Given the description of an element on the screen output the (x, y) to click on. 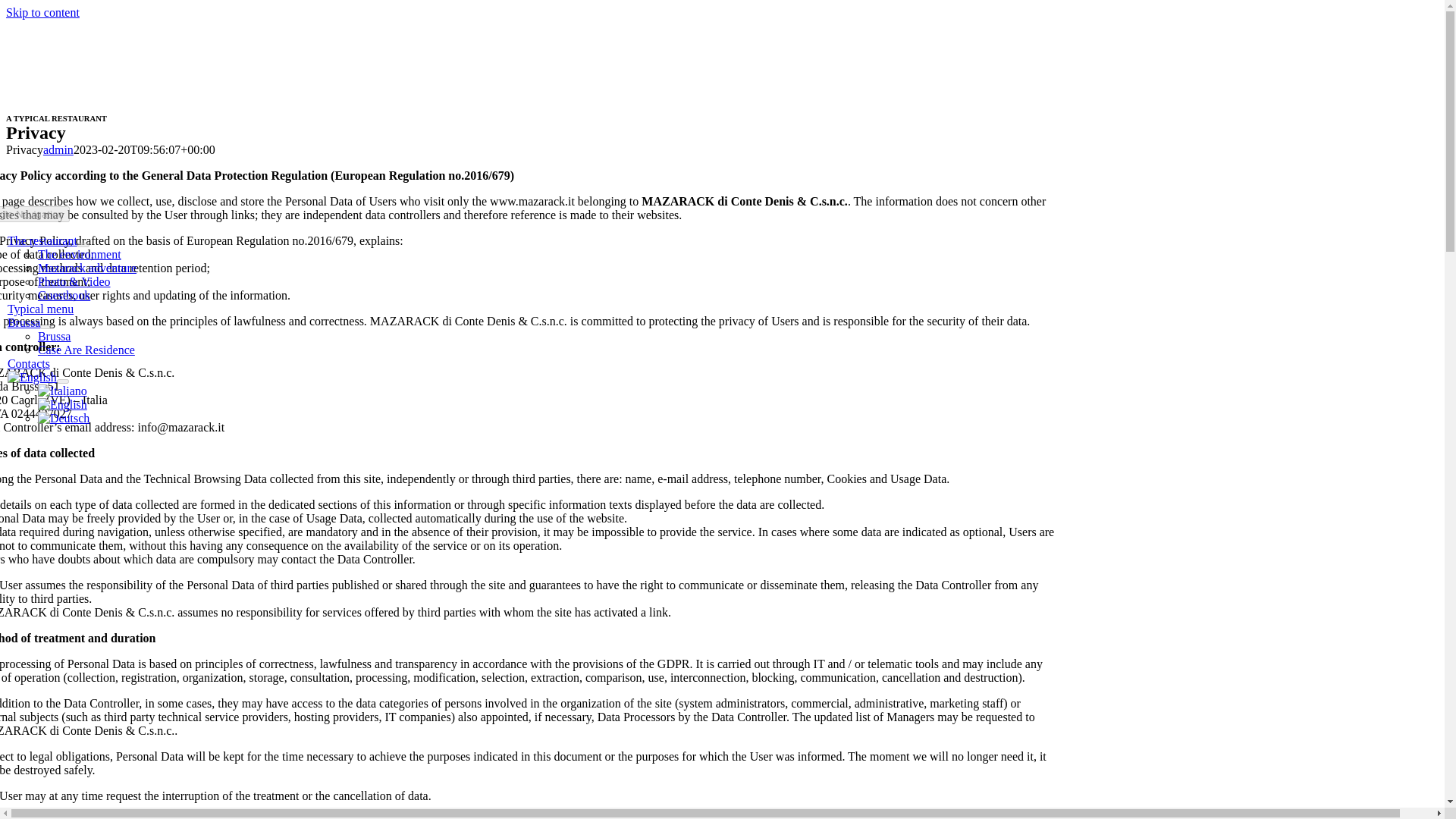
Typical menu (40, 308)
Contacts (28, 363)
Brussa (23, 322)
Toggle Navigation (34, 213)
Mazarack adventure (86, 267)
The environment (78, 254)
Posts by admin (58, 149)
admin (58, 149)
Skip to content (42, 11)
Brussa (54, 336)
Case Are Residence (86, 349)
The restaurant (42, 240)
Guestbook (63, 295)
